Given the description of an element on the screen output the (x, y) to click on. 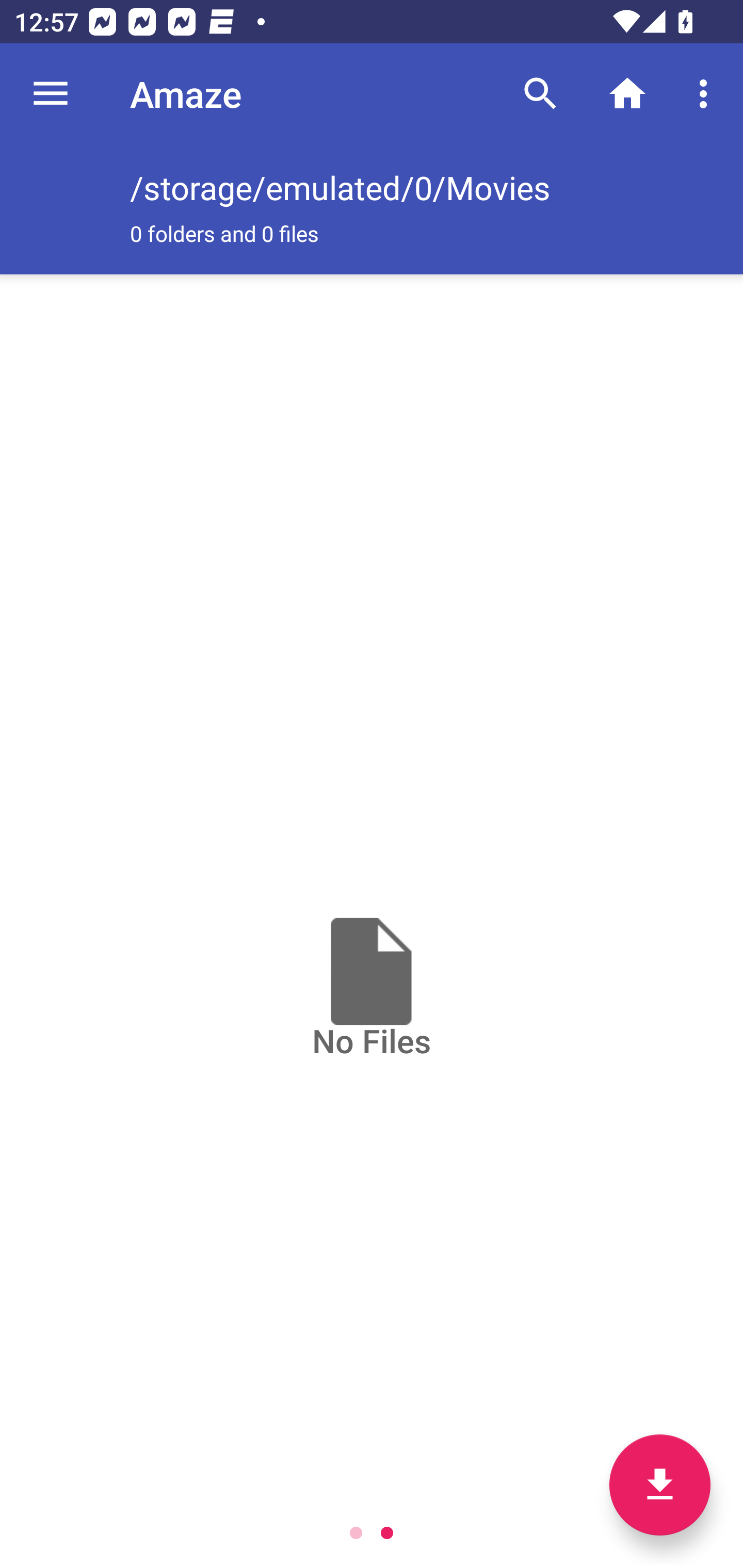
Navigate up (50, 93)
Search (540, 93)
Home (626, 93)
More options (706, 93)
